Given the description of an element on the screen output the (x, y) to click on. 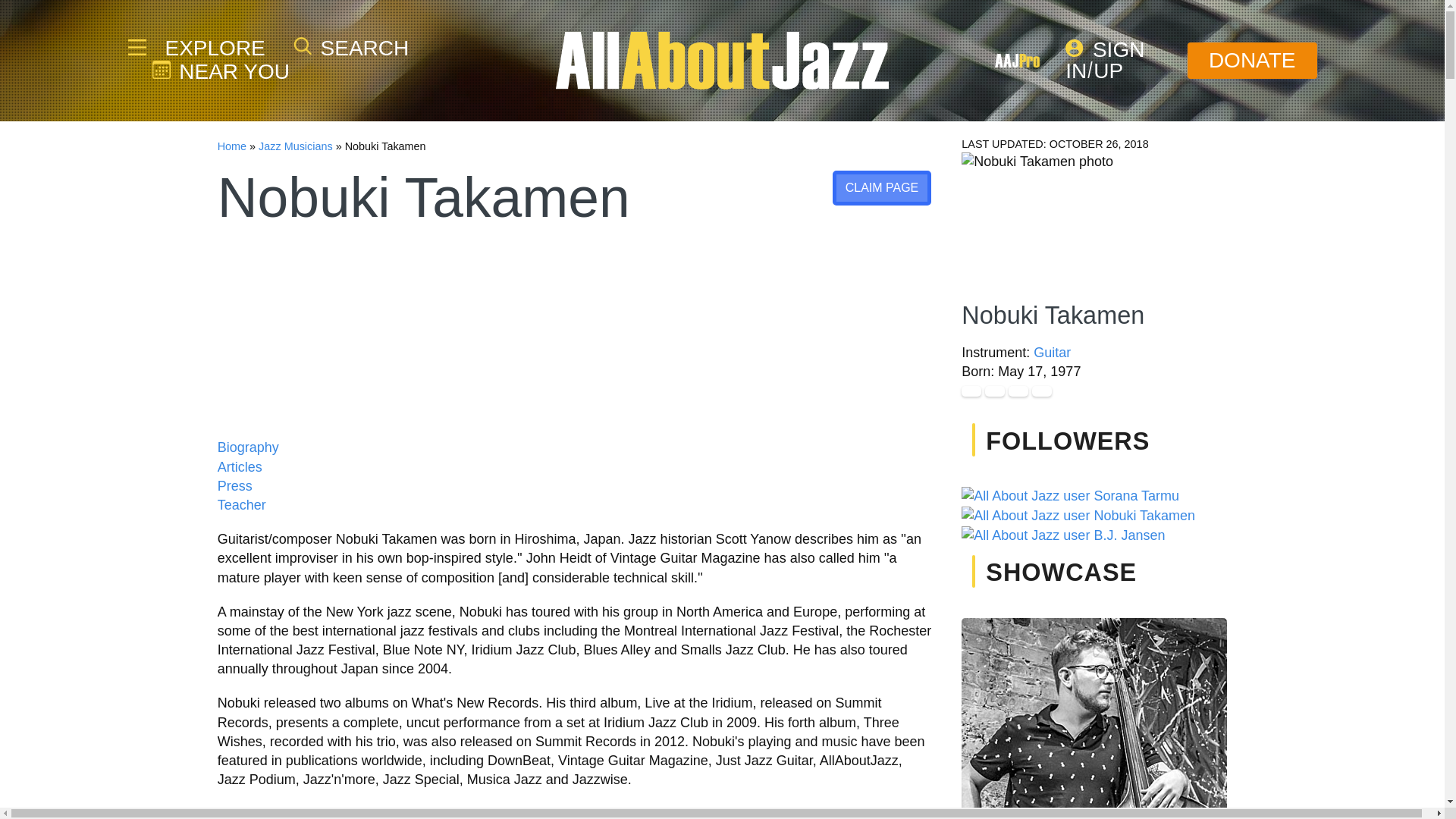
SEARCH (351, 47)
Press (233, 485)
Teacher (241, 504)
All About Jazz Jazz Musicians (296, 146)
View jazz concerts near you (220, 71)
Search All About Jazz by category (351, 47)
Home (231, 146)
Explore the vast grandeur of All About Jazz (212, 47)
CLAIM PAGE (881, 187)
AAJ Essentials (136, 47)
